Given the description of an element on the screen output the (x, y) to click on. 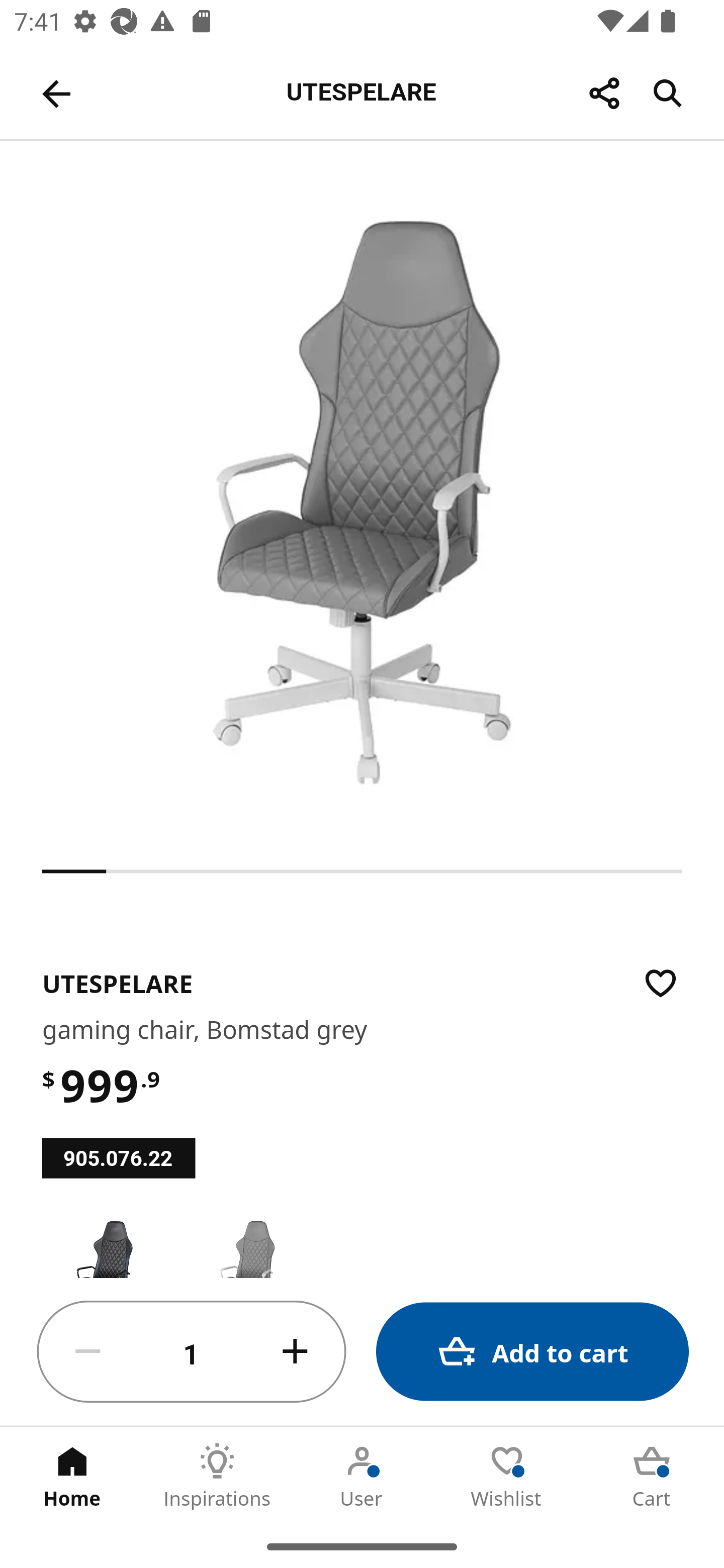
Add to cart (531, 1352)
1 (191, 1352)
Home
Tab 1 of 5 (72, 1476)
Inspirations
Tab 2 of 5 (216, 1476)
User
Tab 3 of 5 (361, 1476)
Wishlist
Tab 4 of 5 (506, 1476)
Cart
Tab 5 of 5 (651, 1476)
